Given the description of an element on the screen output the (x, y) to click on. 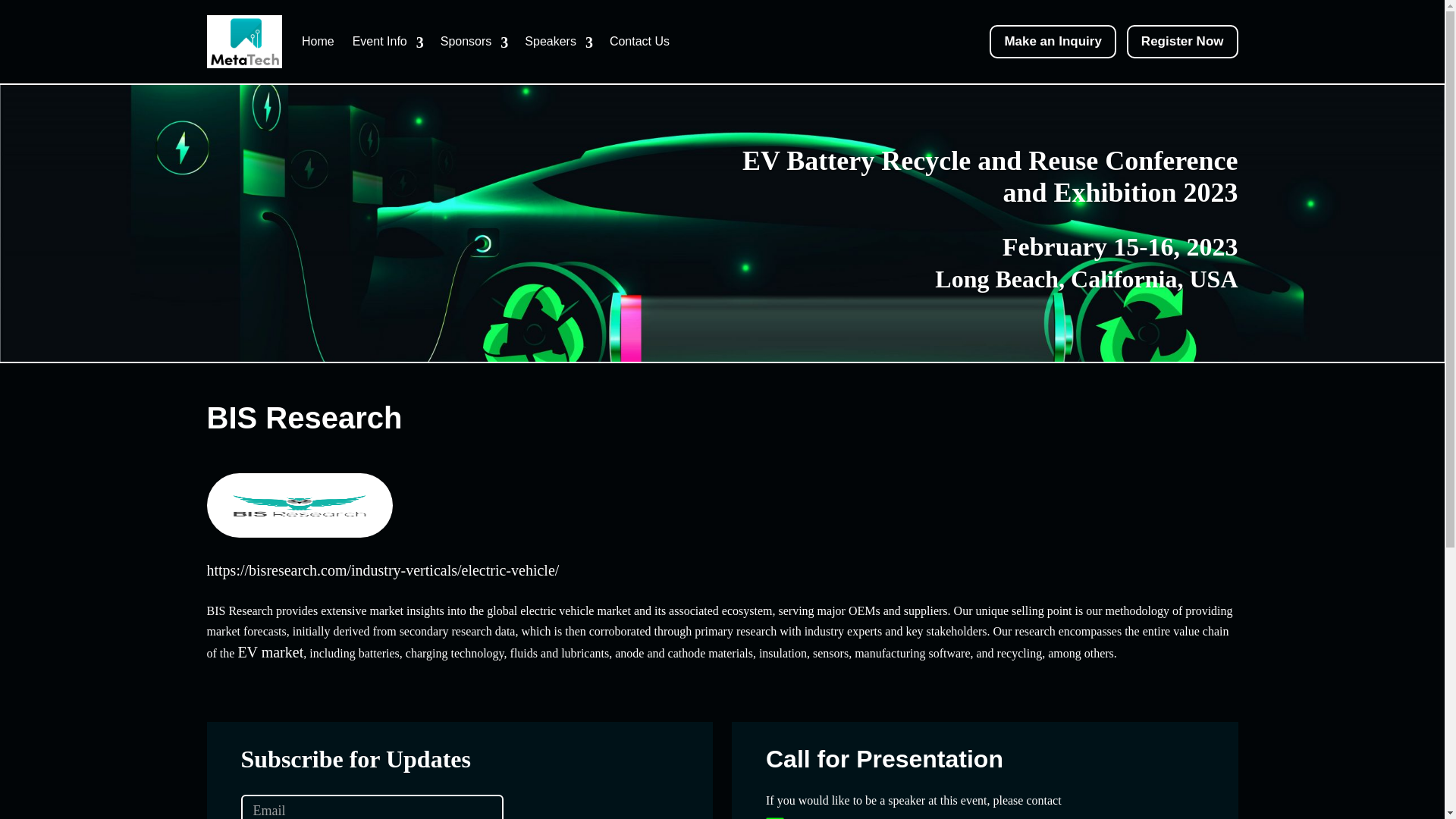
Register Now (1182, 41)
Event Info (383, 41)
BIS-Logo (299, 504)
Make an Inquiry (1052, 41)
EV market (269, 652)
Contact Us (638, 41)
Sponsors (469, 41)
Home (317, 41)
Speakers (553, 41)
